Given the description of an element on the screen output the (x, y) to click on. 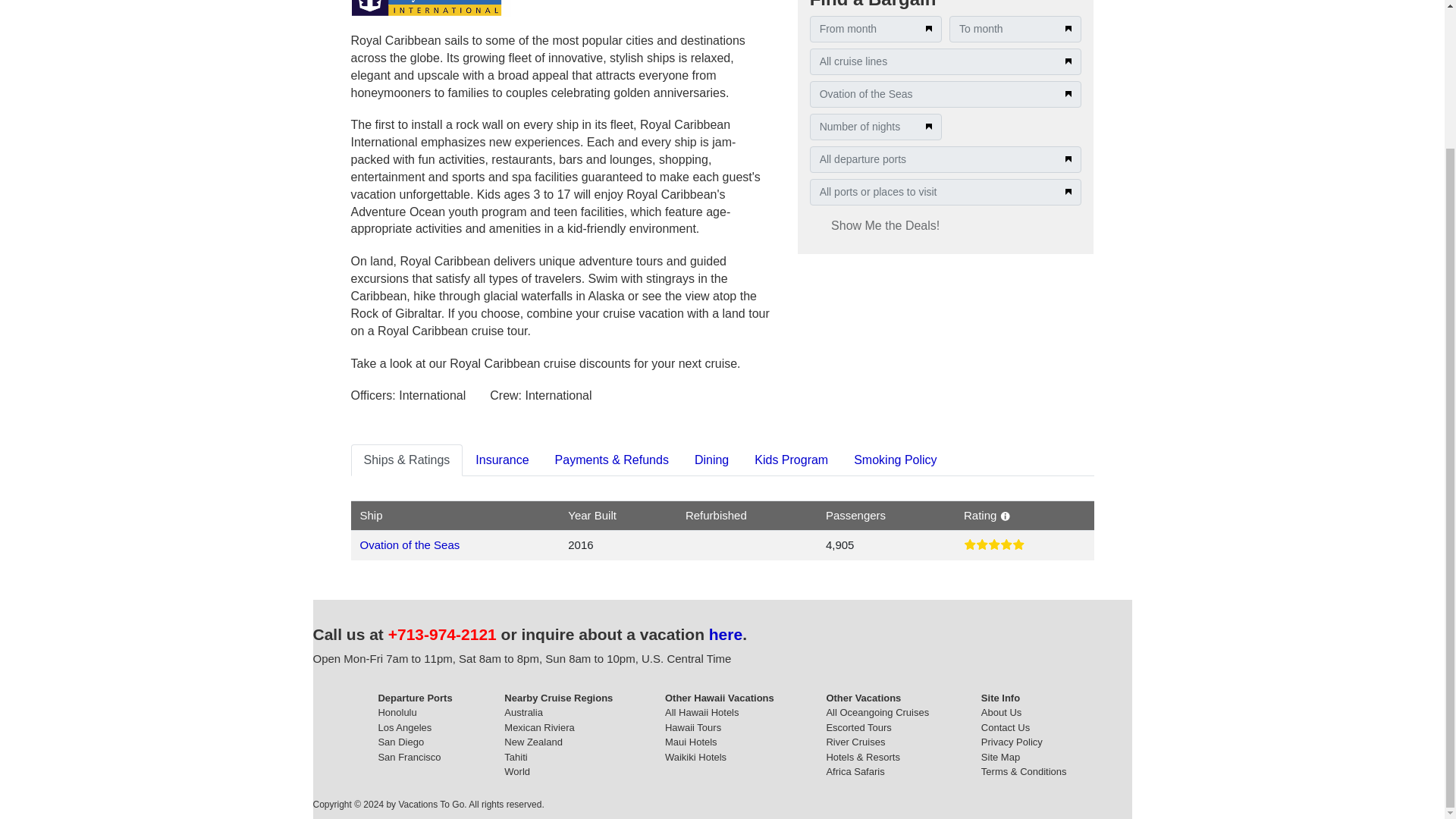
Show Me the Deals! (884, 225)
